Given the description of an element on the screen output the (x, y) to click on. 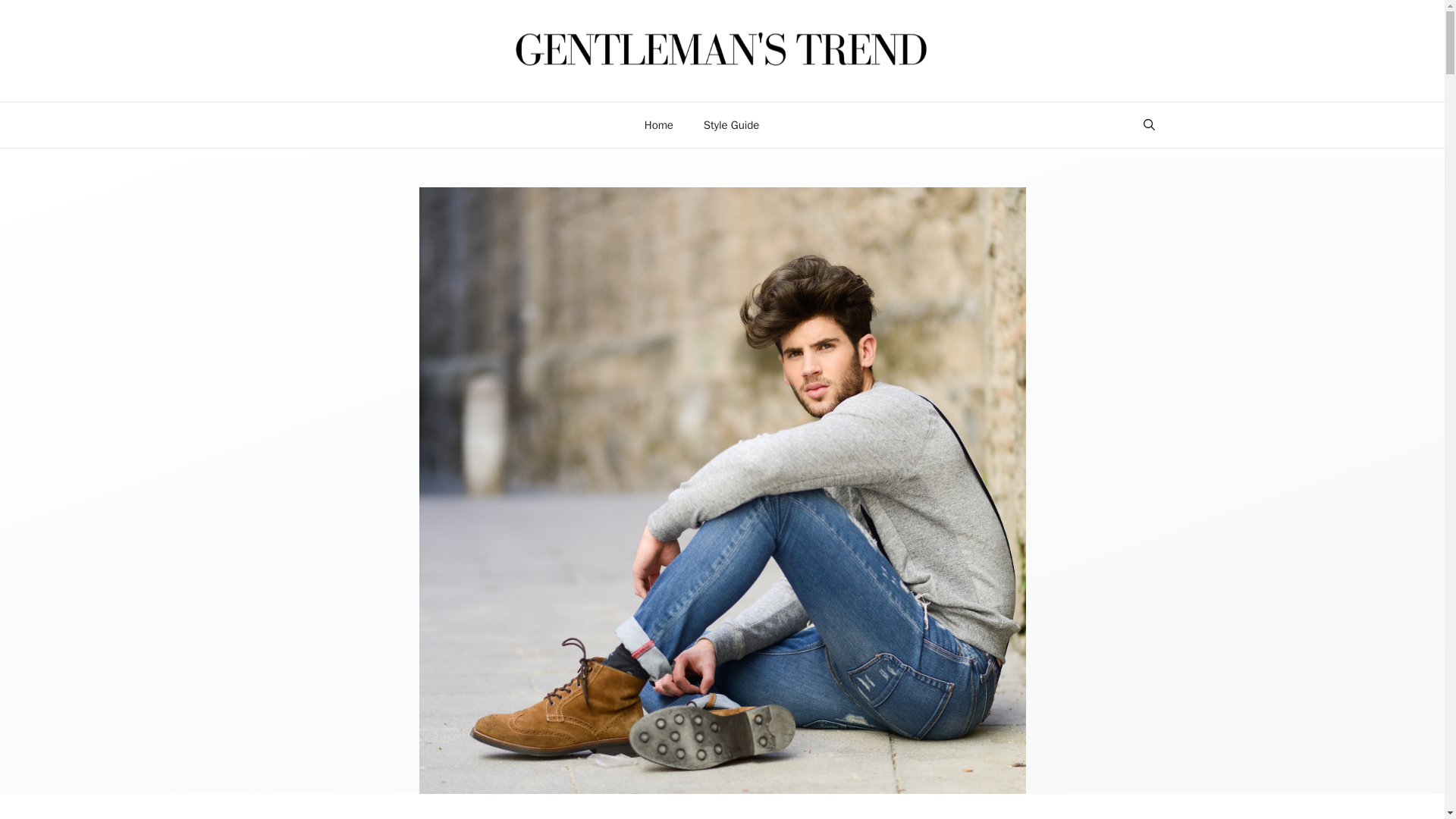
Home (658, 125)
Style Guide (731, 125)
